Given the description of an element on the screen output the (x, y) to click on. 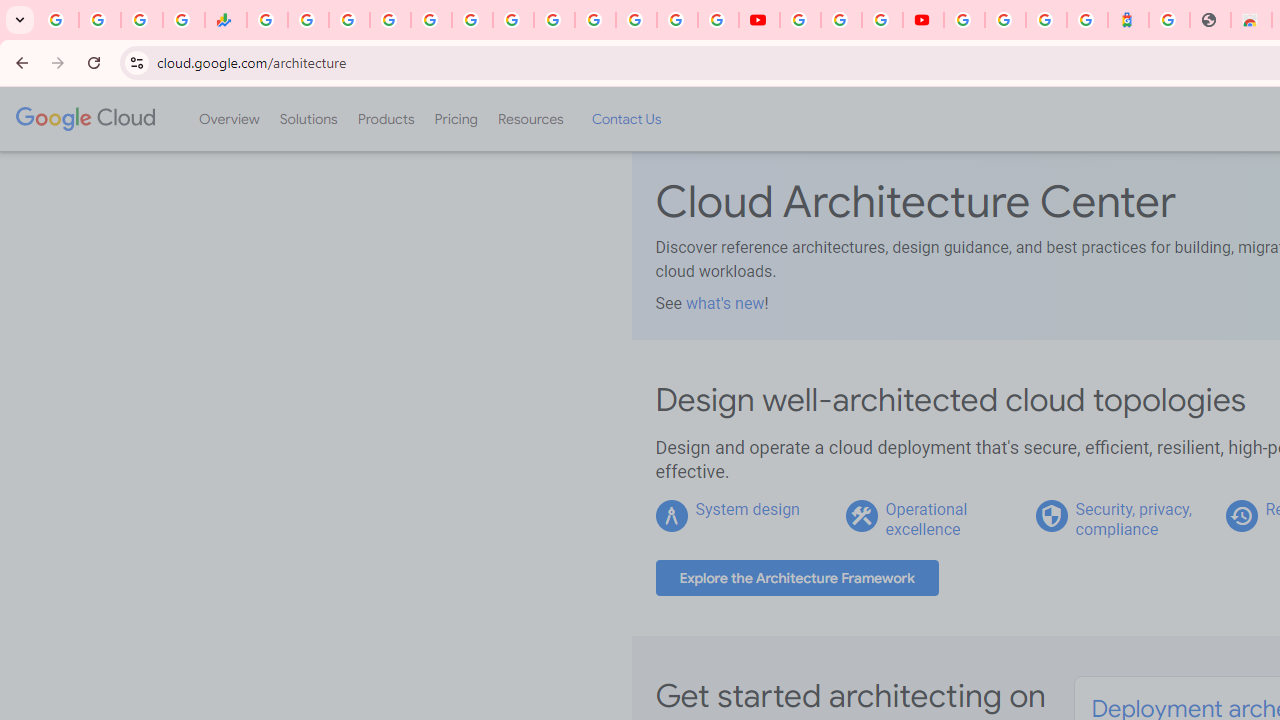
Privacy Checkup (717, 20)
Sign in - Google Accounts (594, 20)
Google Workspace Admin Community (58, 20)
Sign in - Google Accounts (389, 20)
Pricing (455, 119)
